Given the description of an element on the screen output the (x, y) to click on. 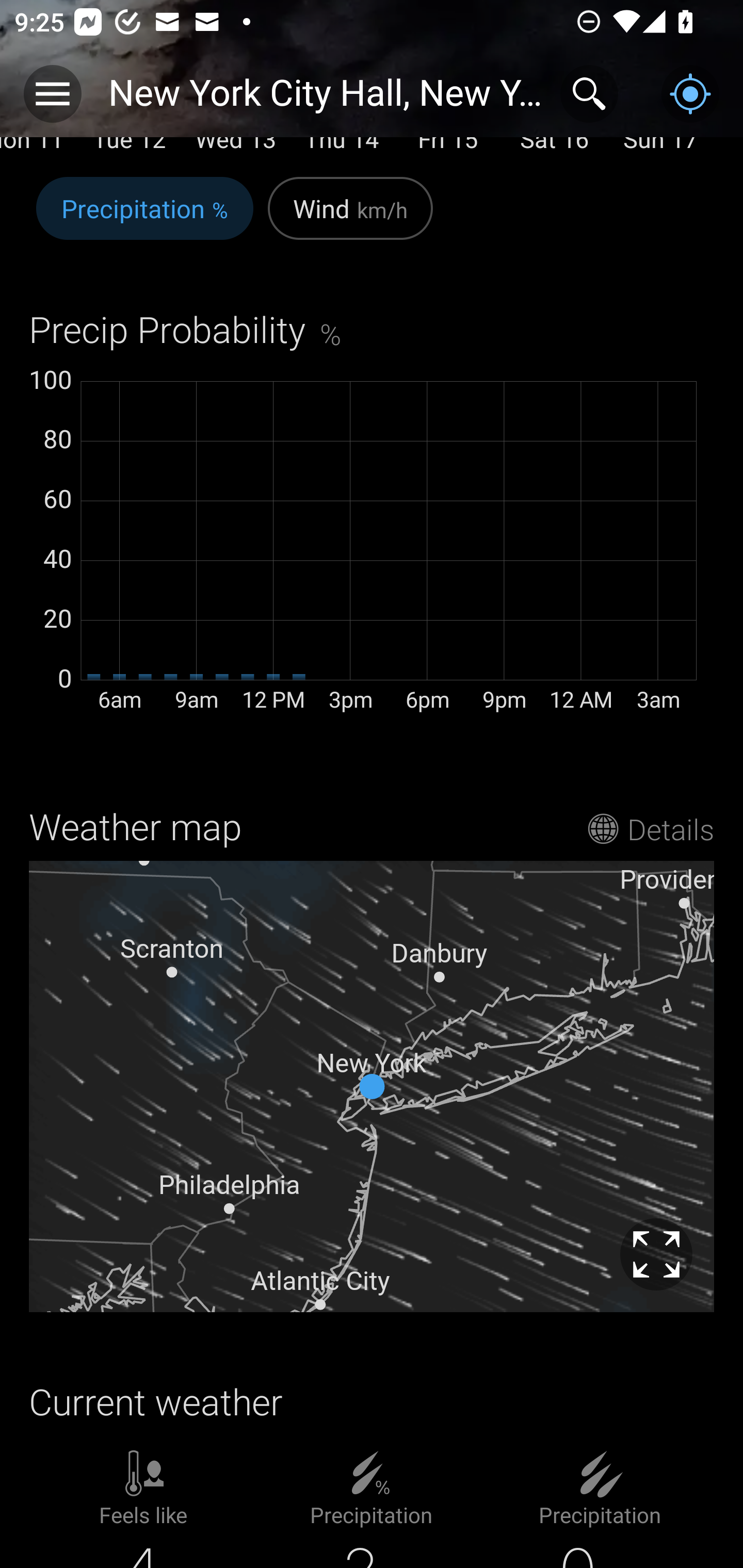
Precipitation % (144, 218)
Wind km/h (349, 218)
